Given the description of an element on the screen output the (x, y) to click on. 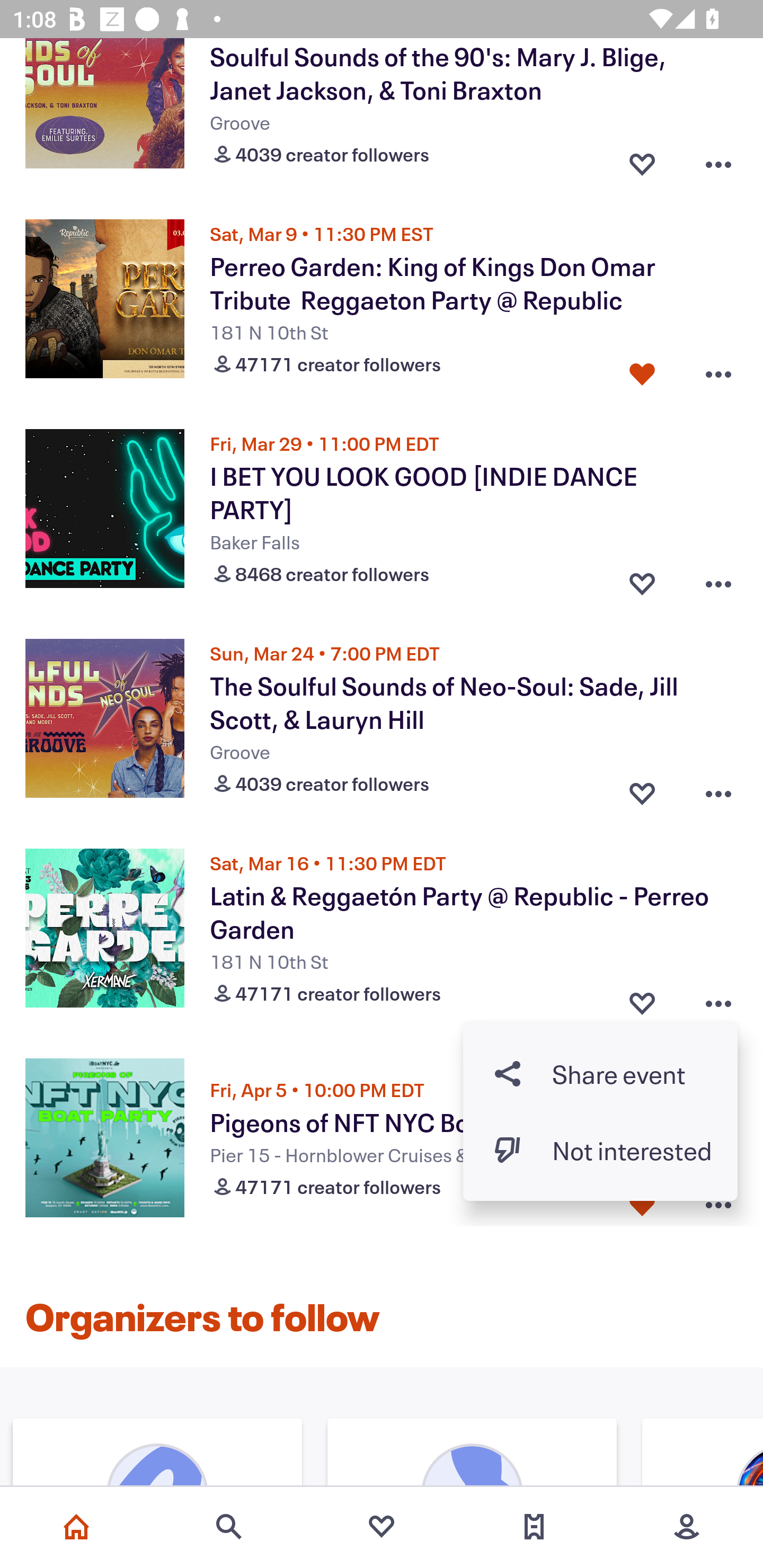
Share button Share event (600, 1072)
Dislike event button Not interested (600, 1149)
